Given the description of an element on the screen output the (x, y) to click on. 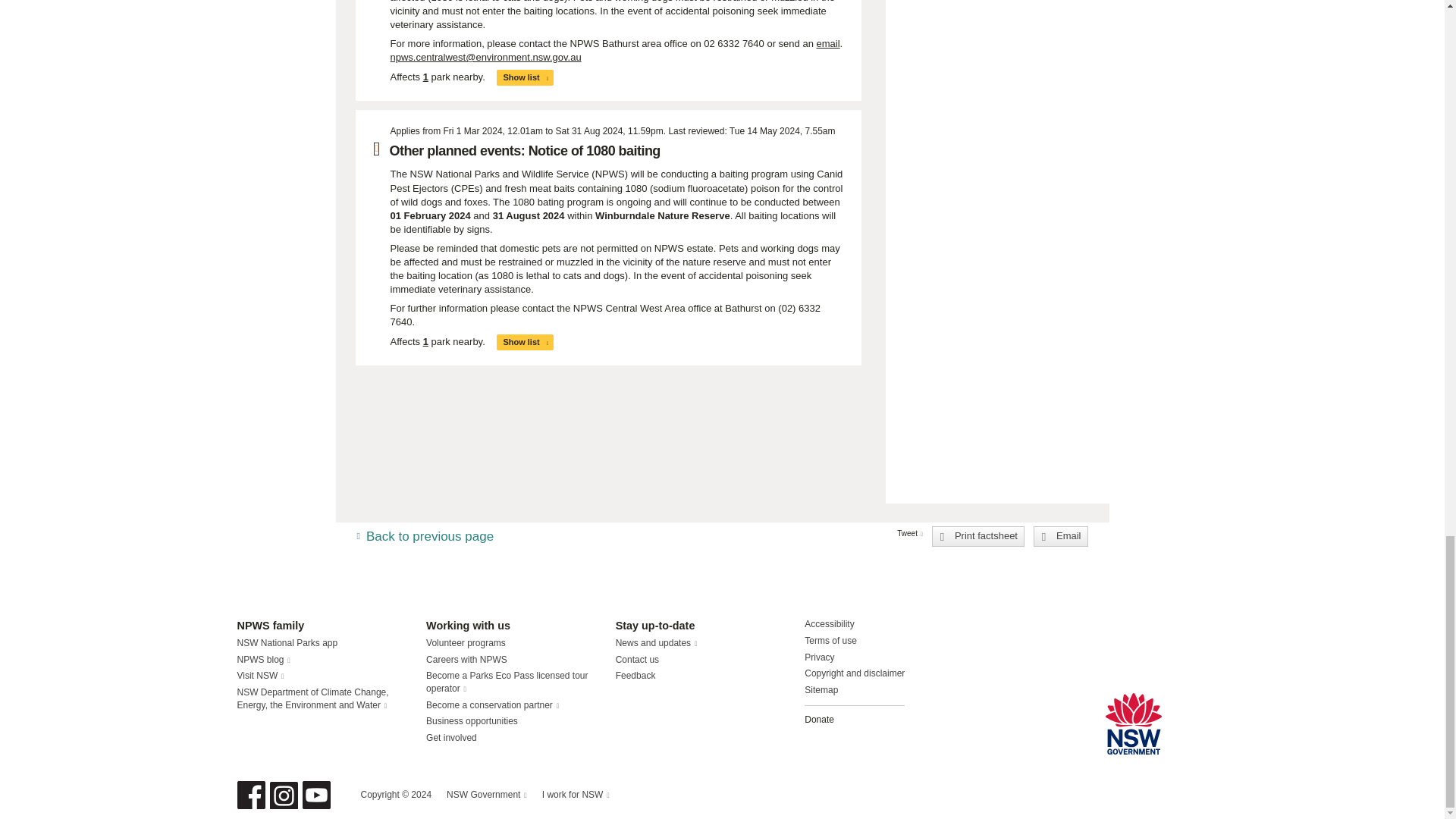
Visit NSW National Parks on Instagram (283, 795)
New South Wales Government (1133, 723)
Visit NSW National Parks on Youtube (315, 795)
Visit NSW National Parks on Facebook (249, 795)
Print-friendly version of these webpages (978, 536)
